Given the description of an element on the screen output the (x, y) to click on. 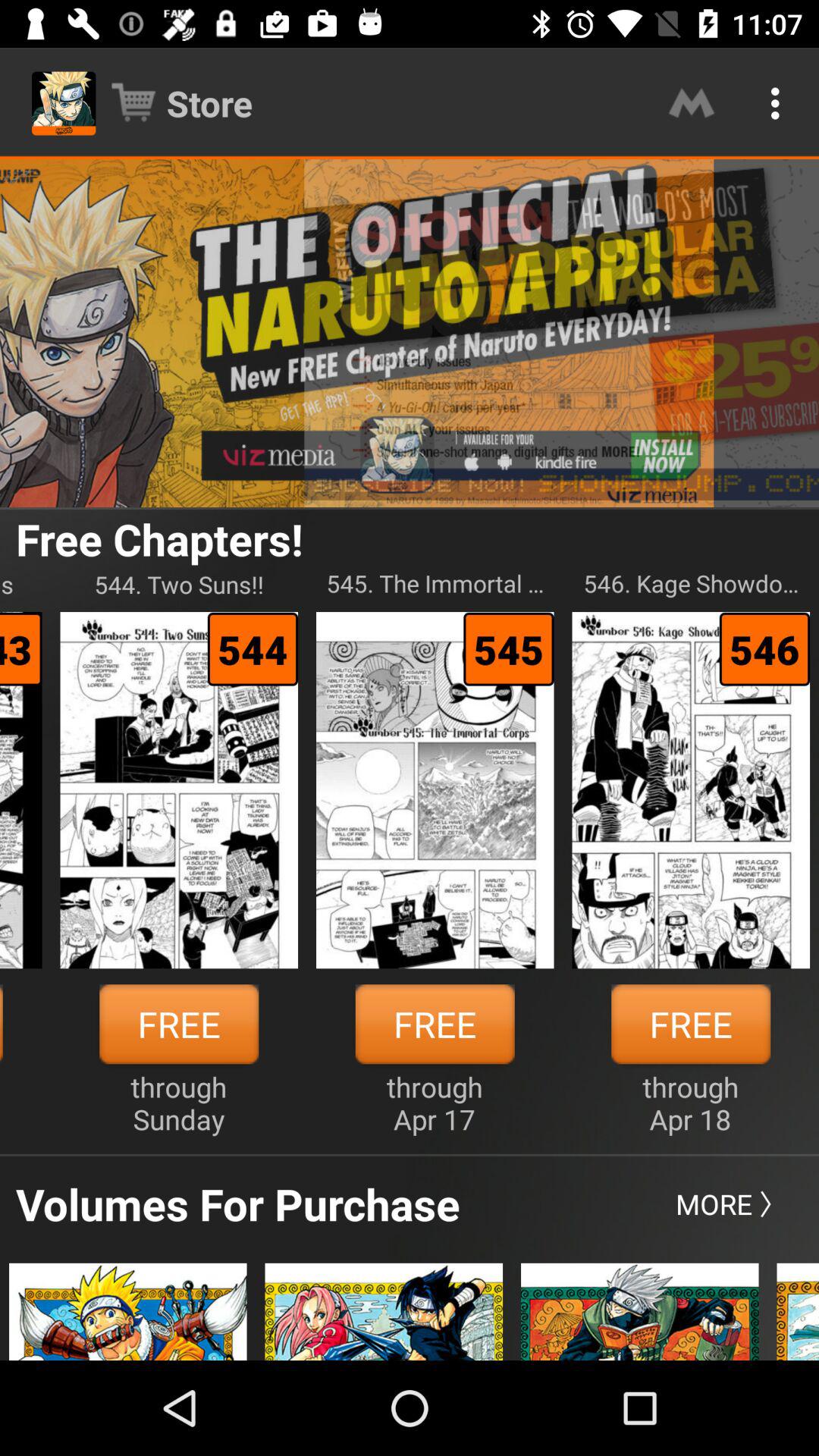
choose item above free chapters! item (409, 333)
